Given the description of an element on the screen output the (x, y) to click on. 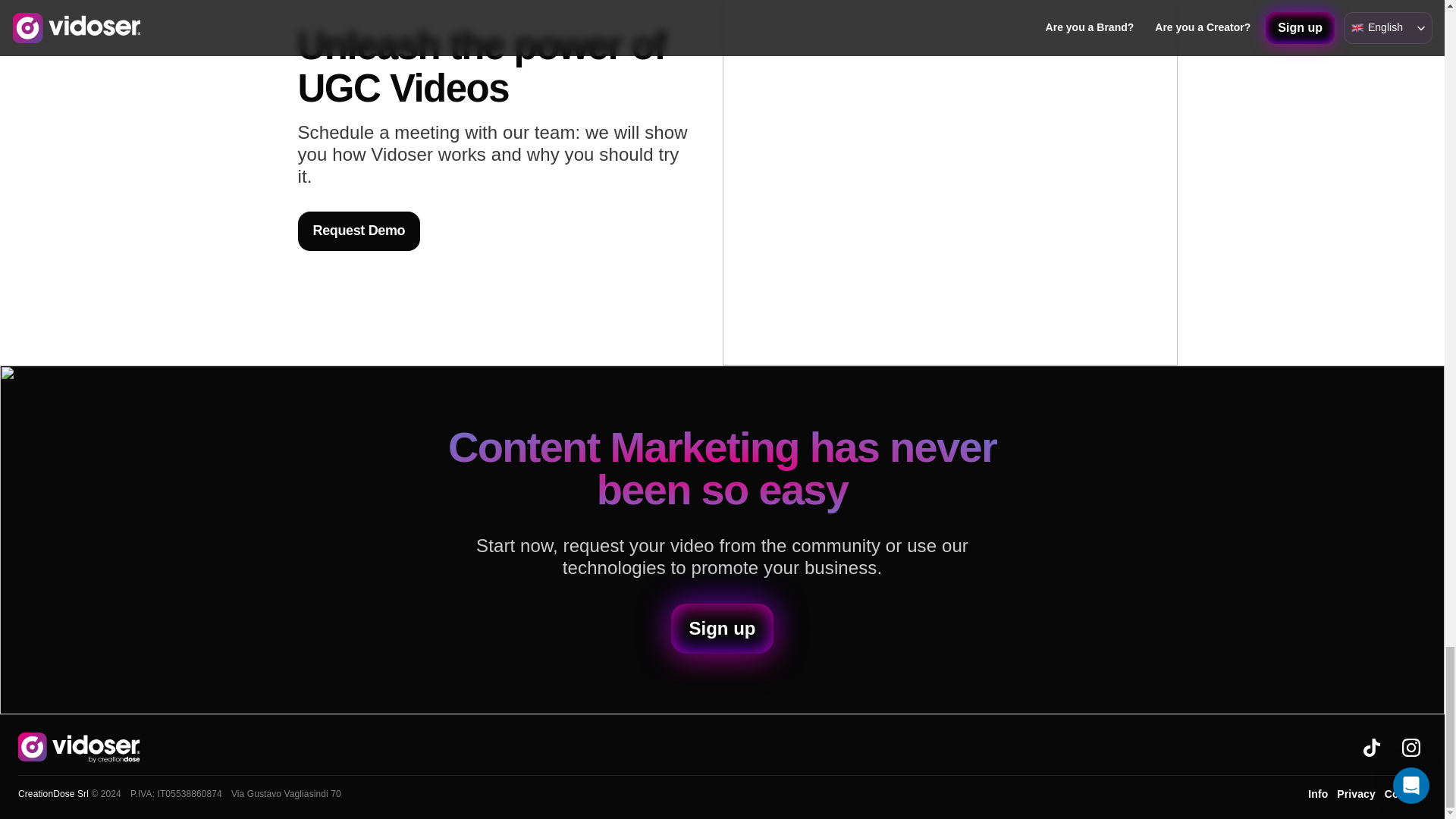
CreationDose Srl (52, 793)
Request Demo (358, 230)
Info (1317, 793)
Privacy (1355, 793)
Sign up (721, 628)
Cookies (1405, 793)
